Given the description of an element on the screen output the (x, y) to click on. 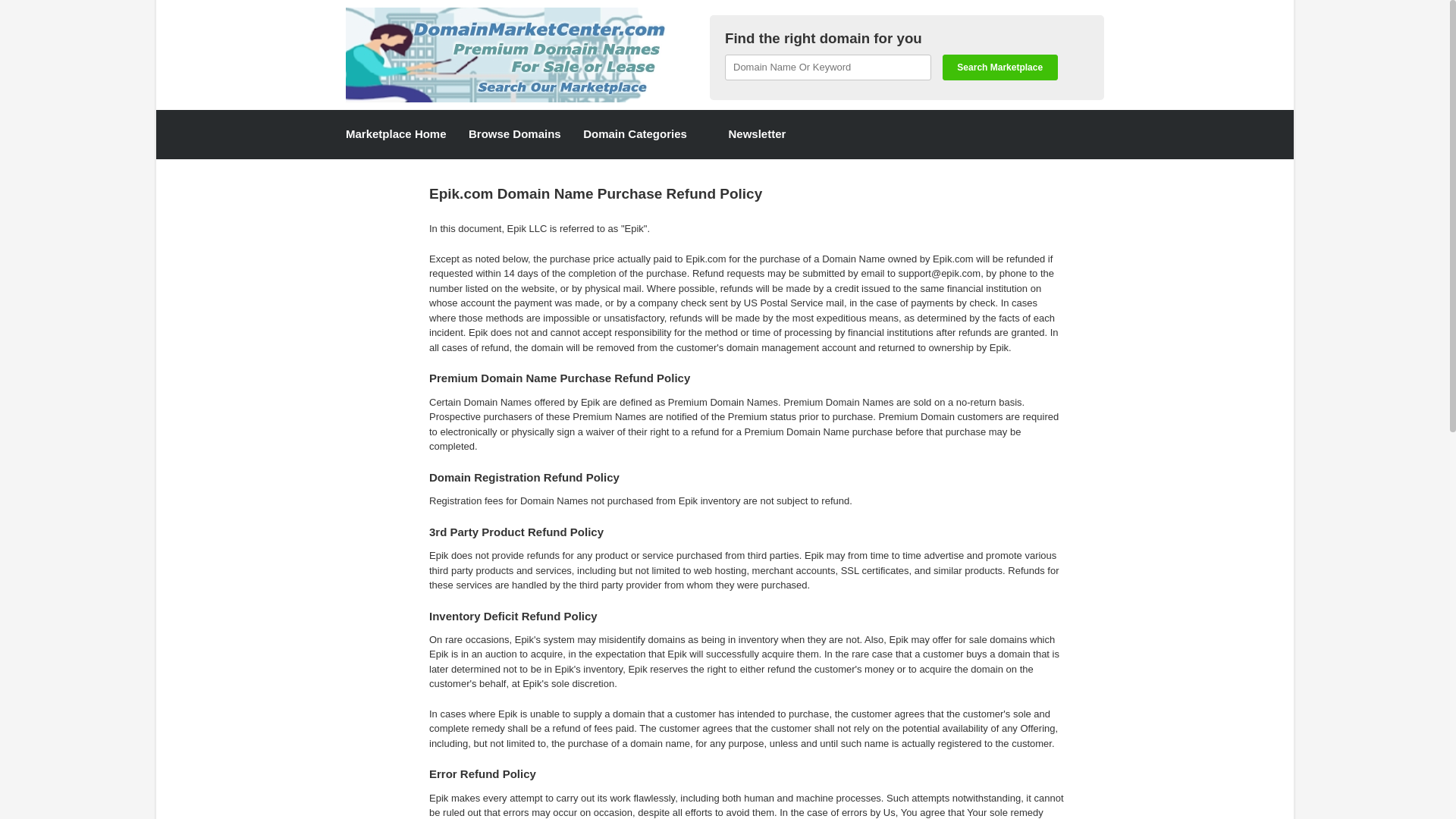
Domain Categories (635, 133)
Newsletter (747, 133)
Browse Domains (514, 133)
Marketplace Home (396, 133)
Search Marketplace (1000, 67)
